Given the description of an element on the screen output the (x, y) to click on. 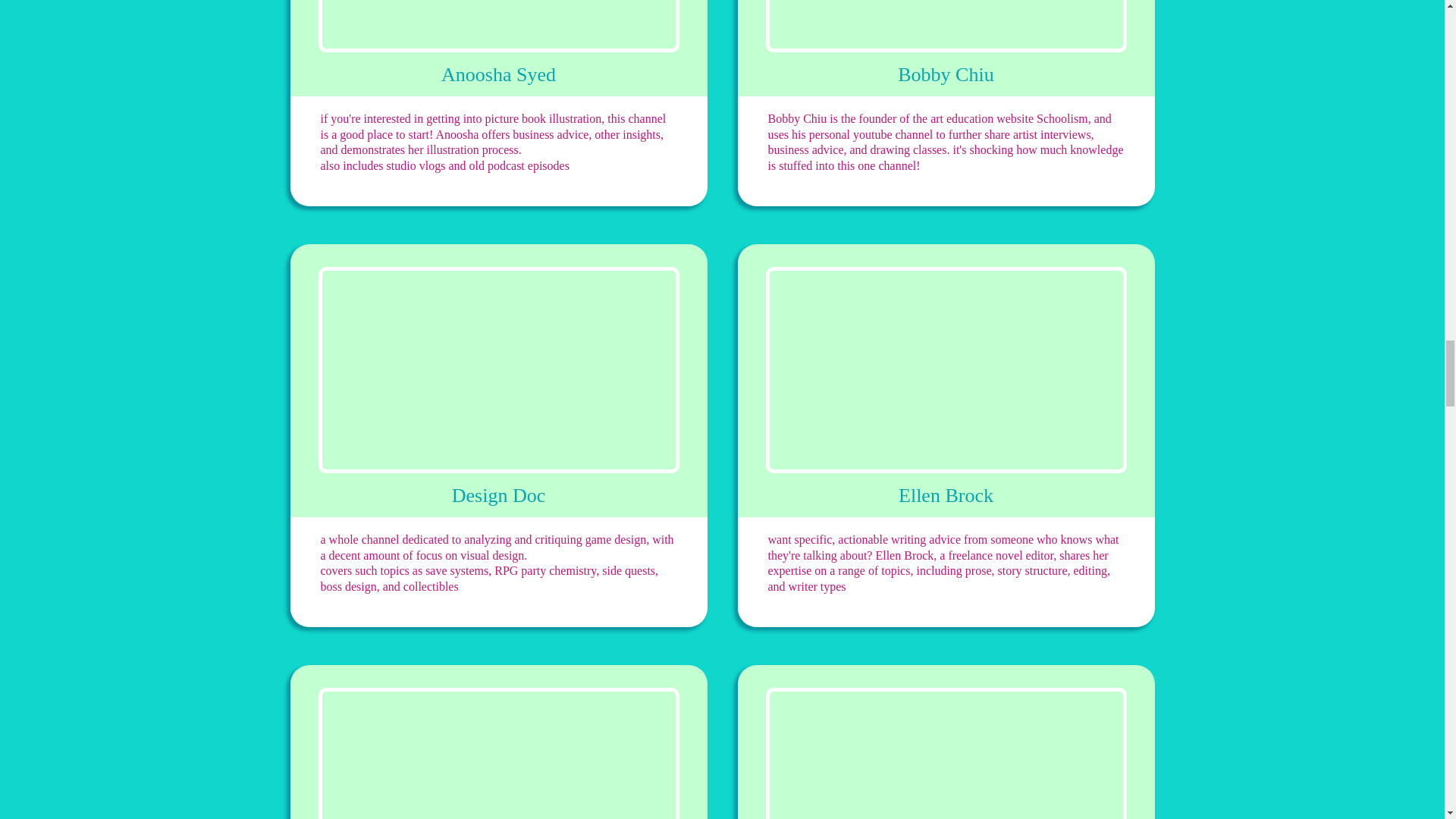
YouTube video player (498, 753)
YouTube video player (498, 26)
YouTube video player (498, 369)
